Given the description of an element on the screen output the (x, y) to click on. 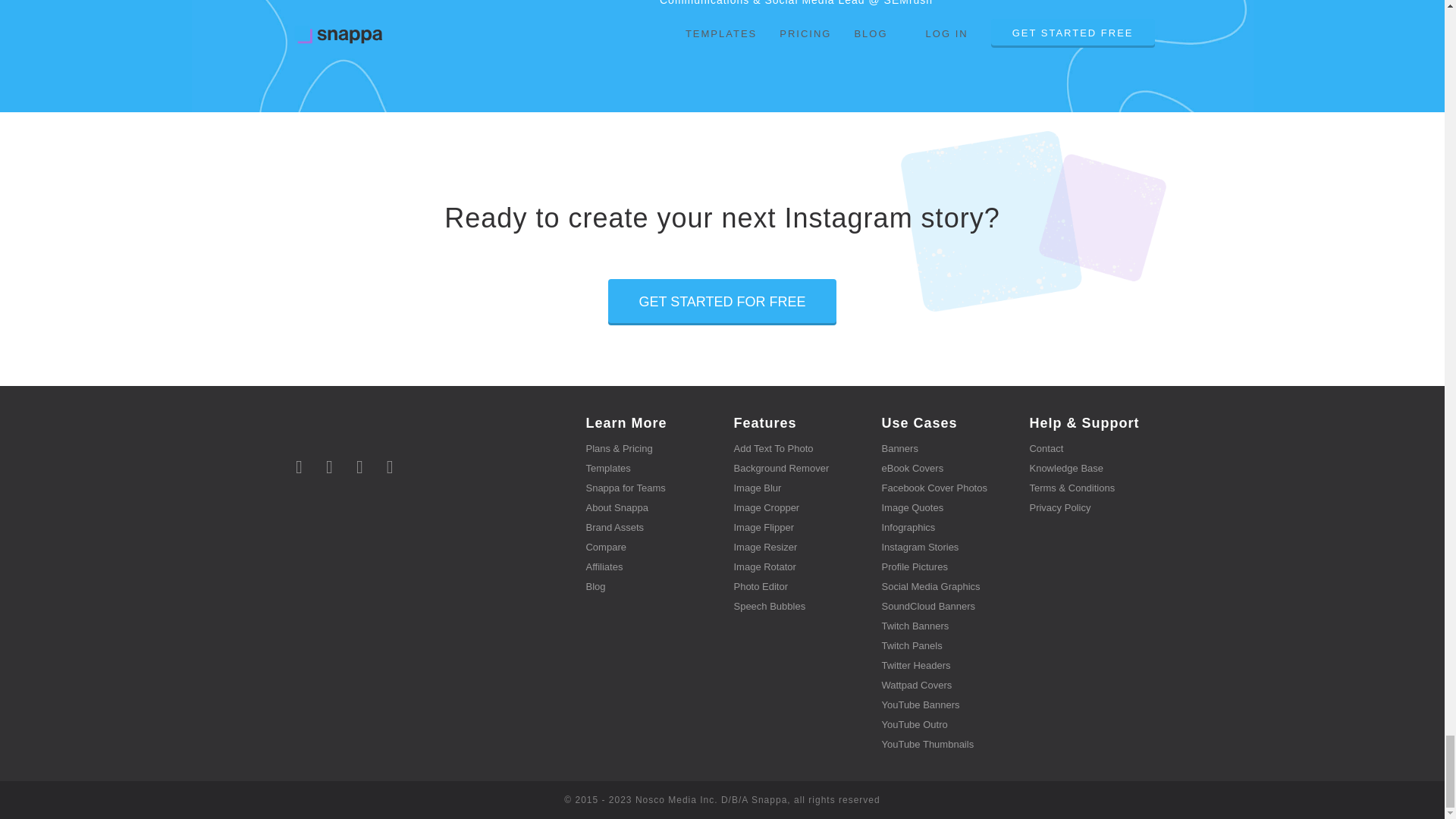
Affiliates (604, 566)
About Snappa (616, 507)
Compare (605, 546)
SEMrush (908, 2)
Snappa for Teams (625, 487)
Templates (607, 468)
Brand Assets (614, 527)
GET STARTED FOR FREE (721, 302)
